Given the description of an element on the screen output the (x, y) to click on. 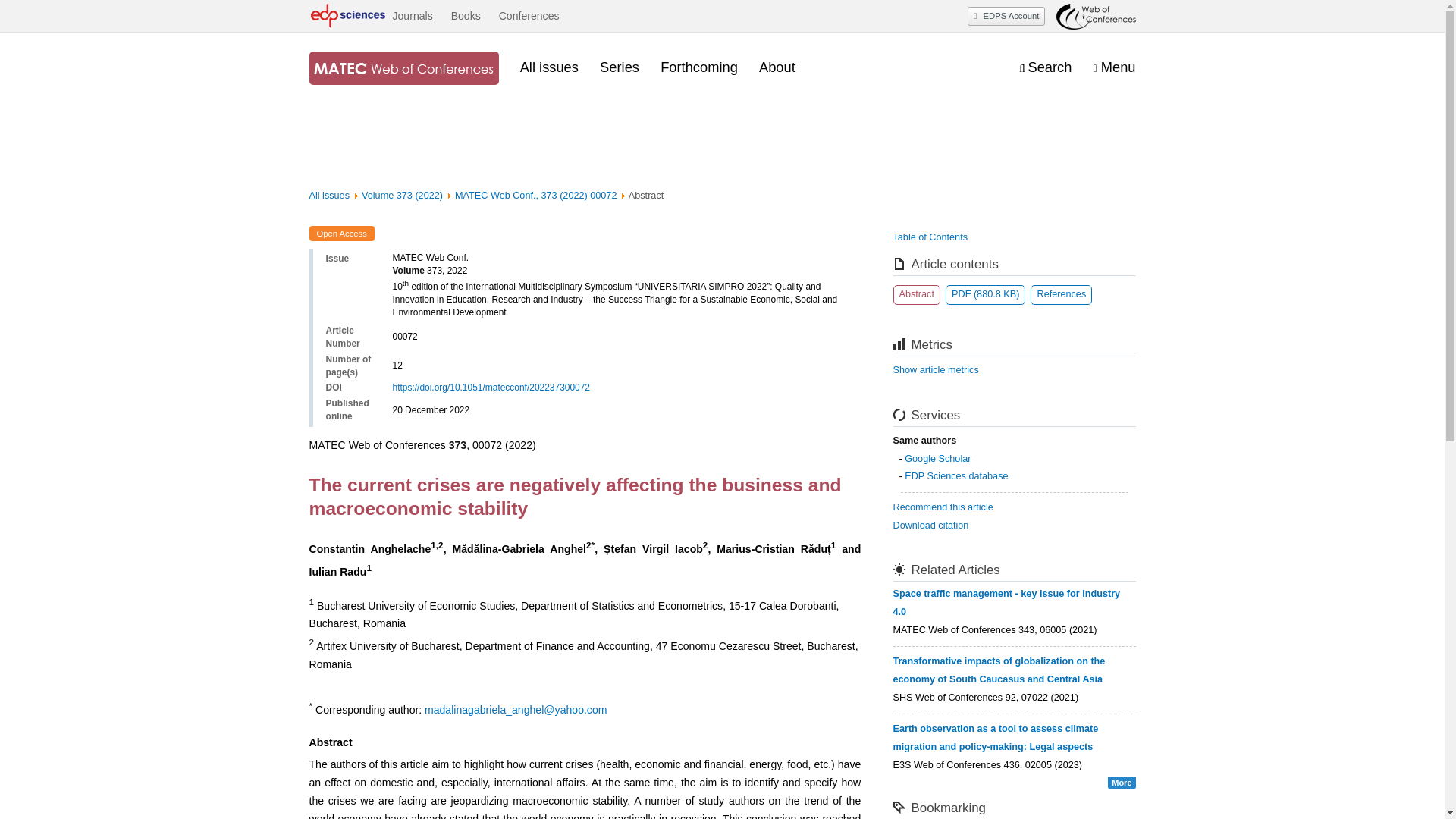
All issues (548, 67)
Journal homepage (403, 67)
Series (619, 67)
Abstract (916, 294)
Journals (411, 16)
Forthcoming (699, 67)
About (776, 67)
Menu (1114, 67)
References (1061, 294)
All issues (328, 195)
Display the search engine (1045, 67)
Conferences (529, 16)
Books (465, 16)
